Given the description of an element on the screen output the (x, y) to click on. 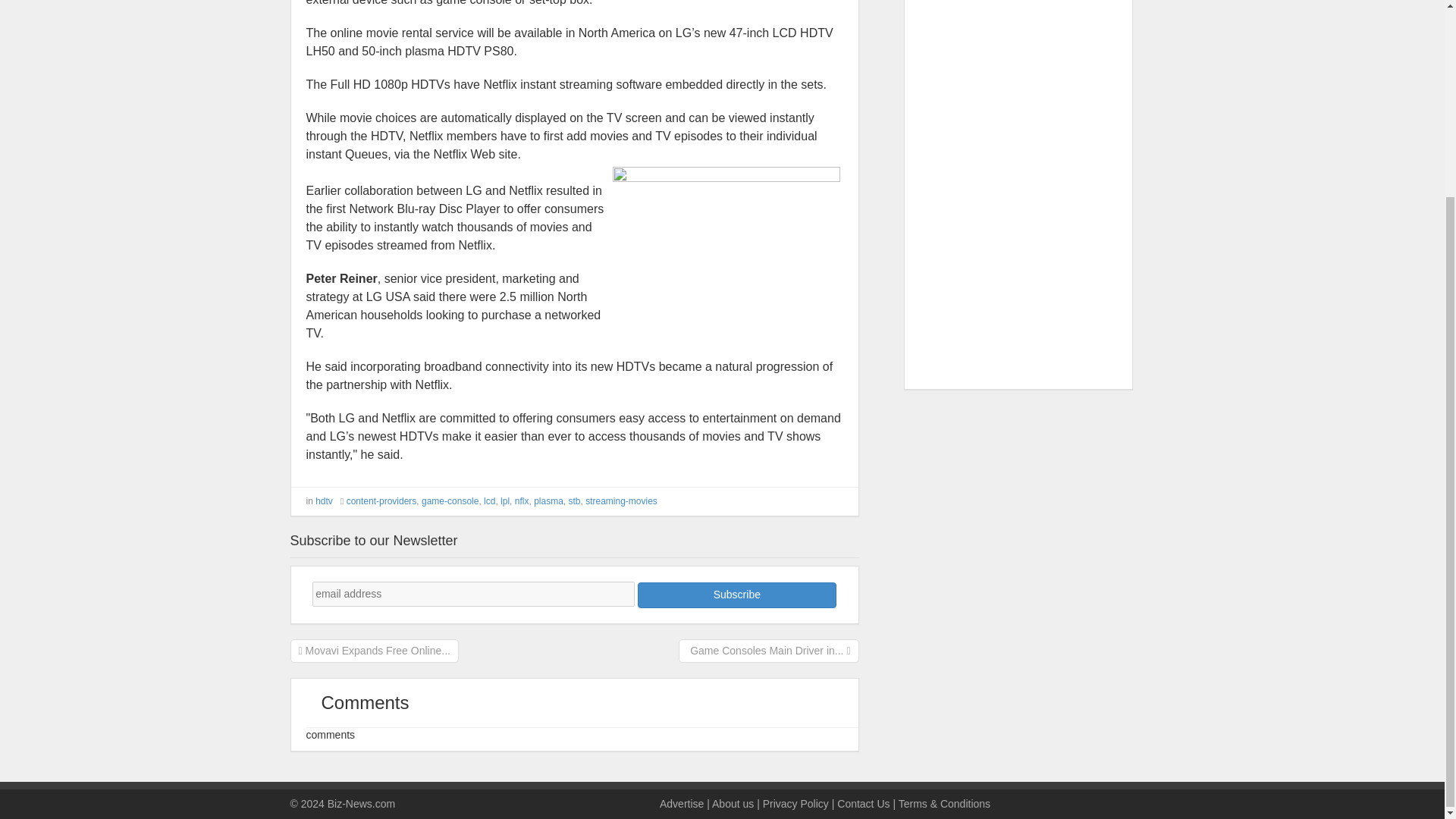
 Game Consoles Main Driver in...  (768, 649)
 Movavi Expands Free Online... (373, 649)
Advertise (681, 803)
stb (573, 501)
Subscribe (736, 595)
content-providers (381, 501)
nflx (522, 501)
plasma (548, 501)
streaming-movies (621, 501)
Subscribe (736, 595)
